Given the description of an element on the screen output the (x, y) to click on. 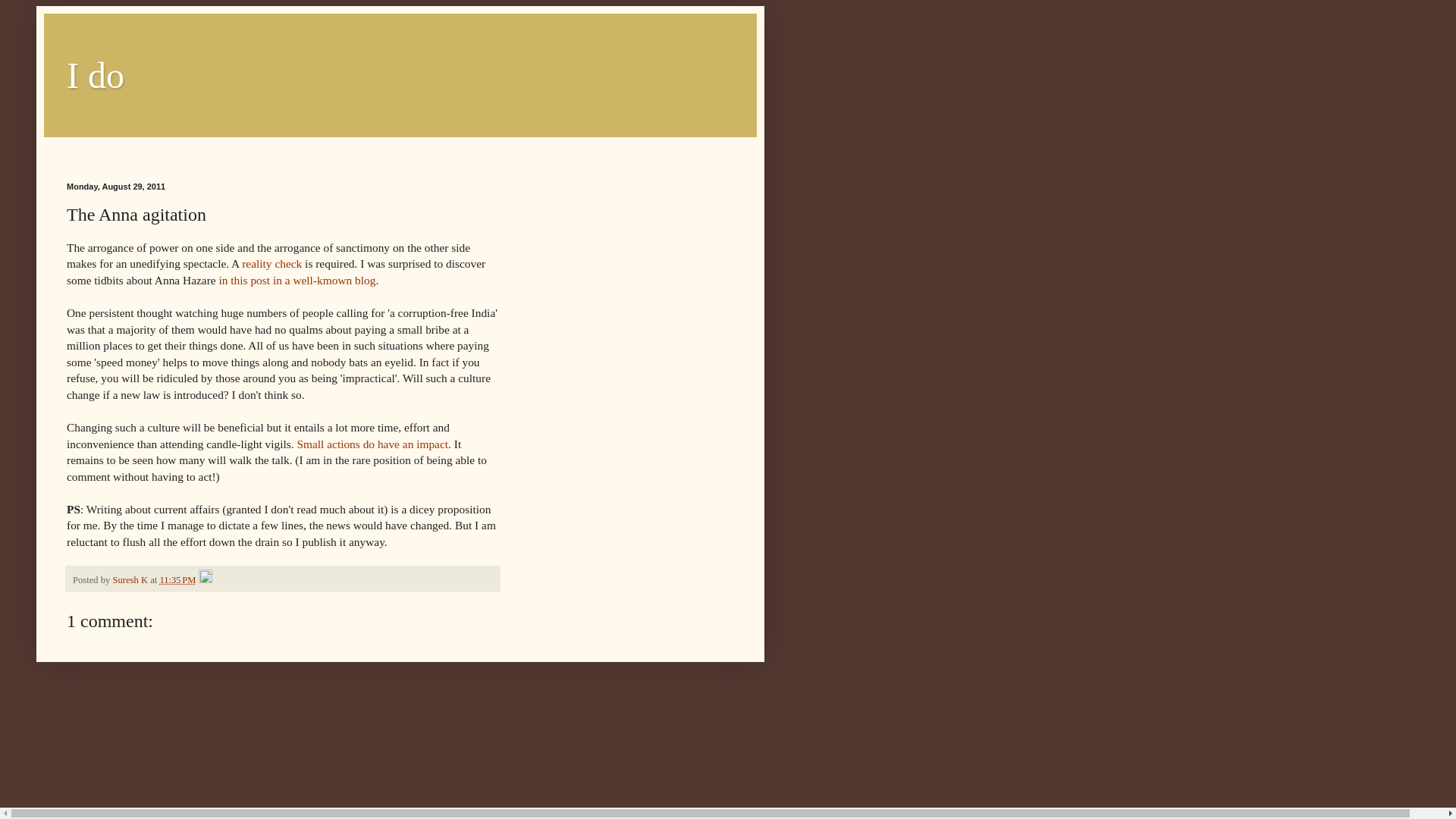
Edit Post (205, 579)
reality check (271, 263)
permanent link (176, 579)
I do (94, 75)
Suresh K (130, 579)
author profile (130, 579)
in this post in a well-kmown blog (296, 279)
Small actions do have an impact (372, 443)
